Given the description of an element on the screen output the (x, y) to click on. 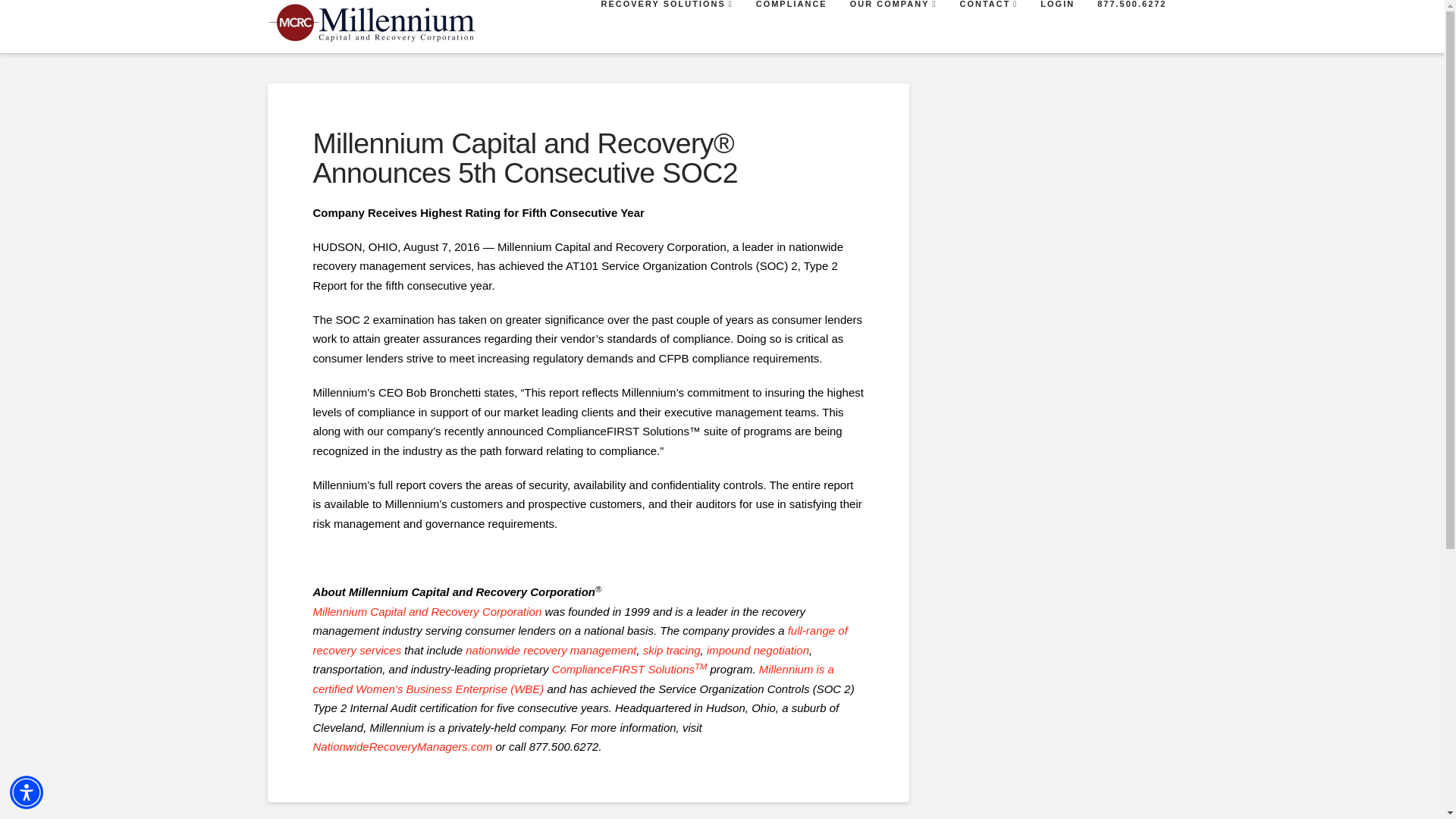
OUR COMPANY (892, 26)
LOGIN (1055, 26)
Accessibility Menu (26, 792)
RECOVERY SOLUTIONS (665, 26)
COMPLIANCE (791, 26)
CONTACT (987, 26)
877.500.6272 (1130, 26)
